Given the description of an element on the screen output the (x, y) to click on. 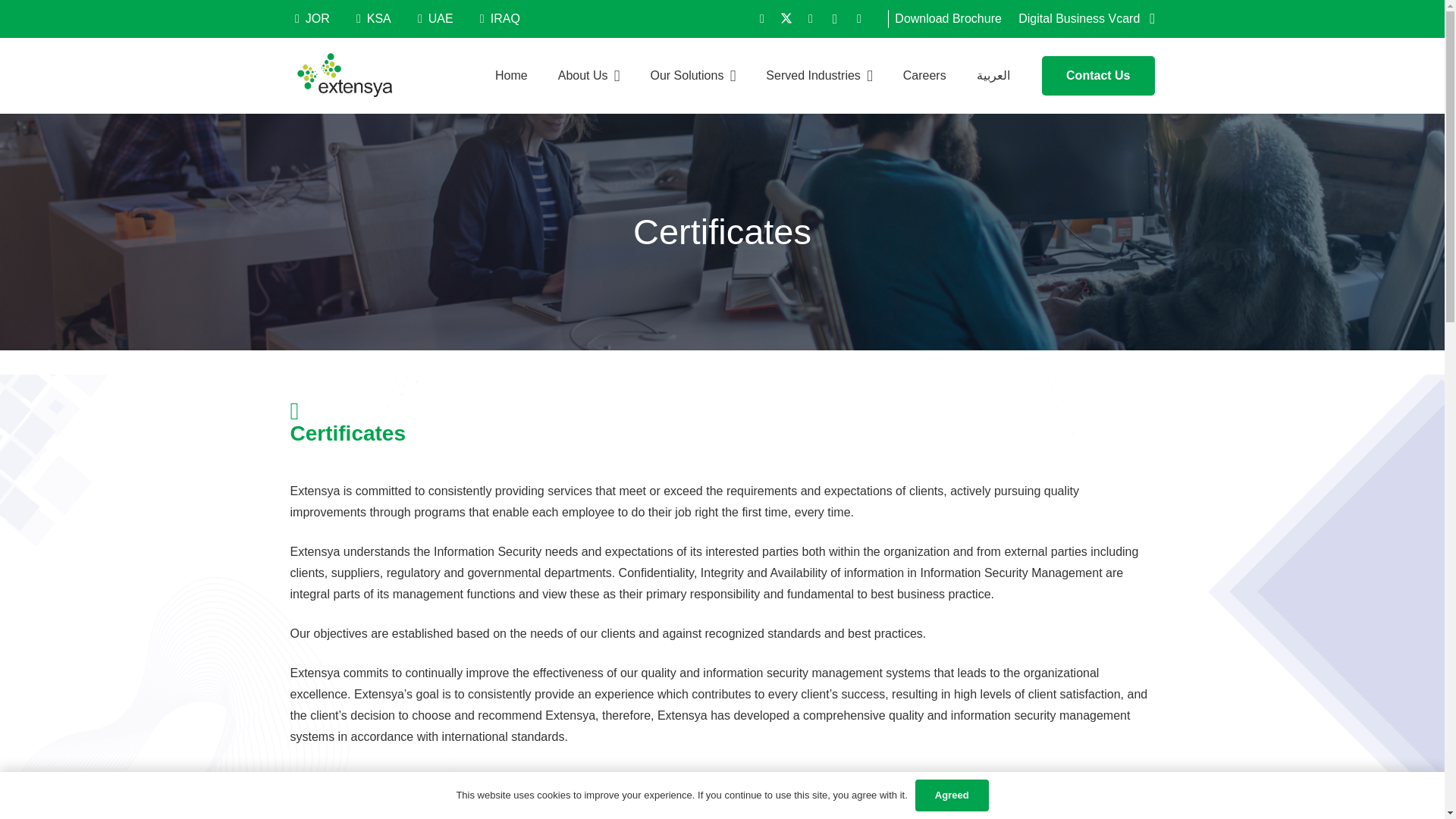
Twitter (785, 18)
YouTube (858, 18)
LinkedIn (809, 18)
Instagram (834, 18)
Facebook (761, 18)
UAE (435, 19)
KSA (374, 19)
IRAQ (499, 19)
JOR (311, 19)
